Given the description of an element on the screen output the (x, y) to click on. 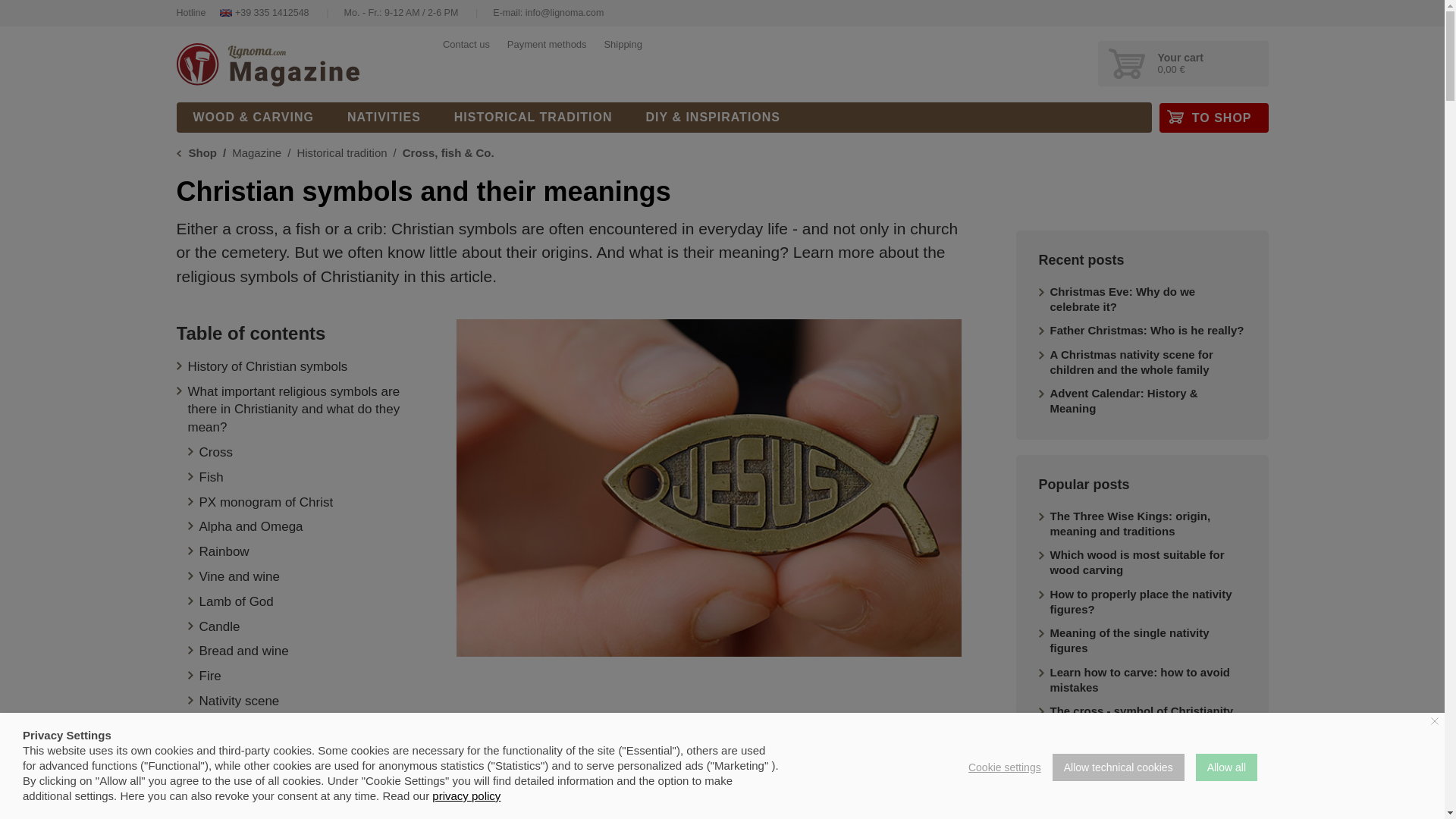
Vine and wine (238, 576)
Contact us (465, 43)
Candle (219, 626)
HISTORICAL TRADITION (533, 116)
Hands in prayer (243, 750)
Shipping (623, 43)
deutsch (635, 396)
History of Christian symbols (267, 366)
Historical tradition (342, 152)
Angels (218, 775)
